Given the description of an element on the screen output the (x, y) to click on. 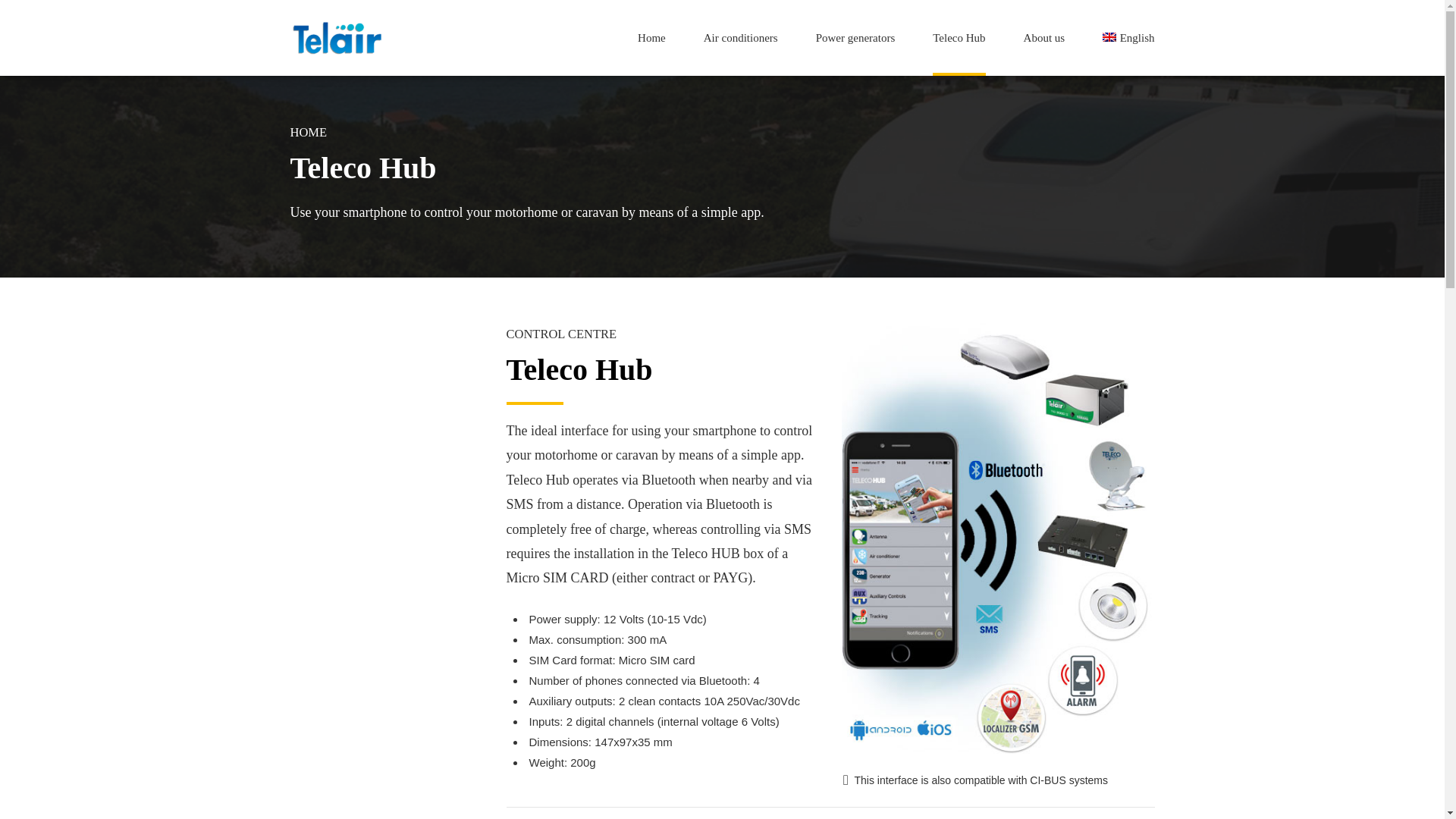
Home (651, 38)
HOME (307, 132)
Power generators (855, 38)
About us (1044, 38)
Air conditioners (740, 38)
Teleco Hub (959, 38)
English (1128, 38)
English (1128, 38)
